Given the description of an element on the screen output the (x, y) to click on. 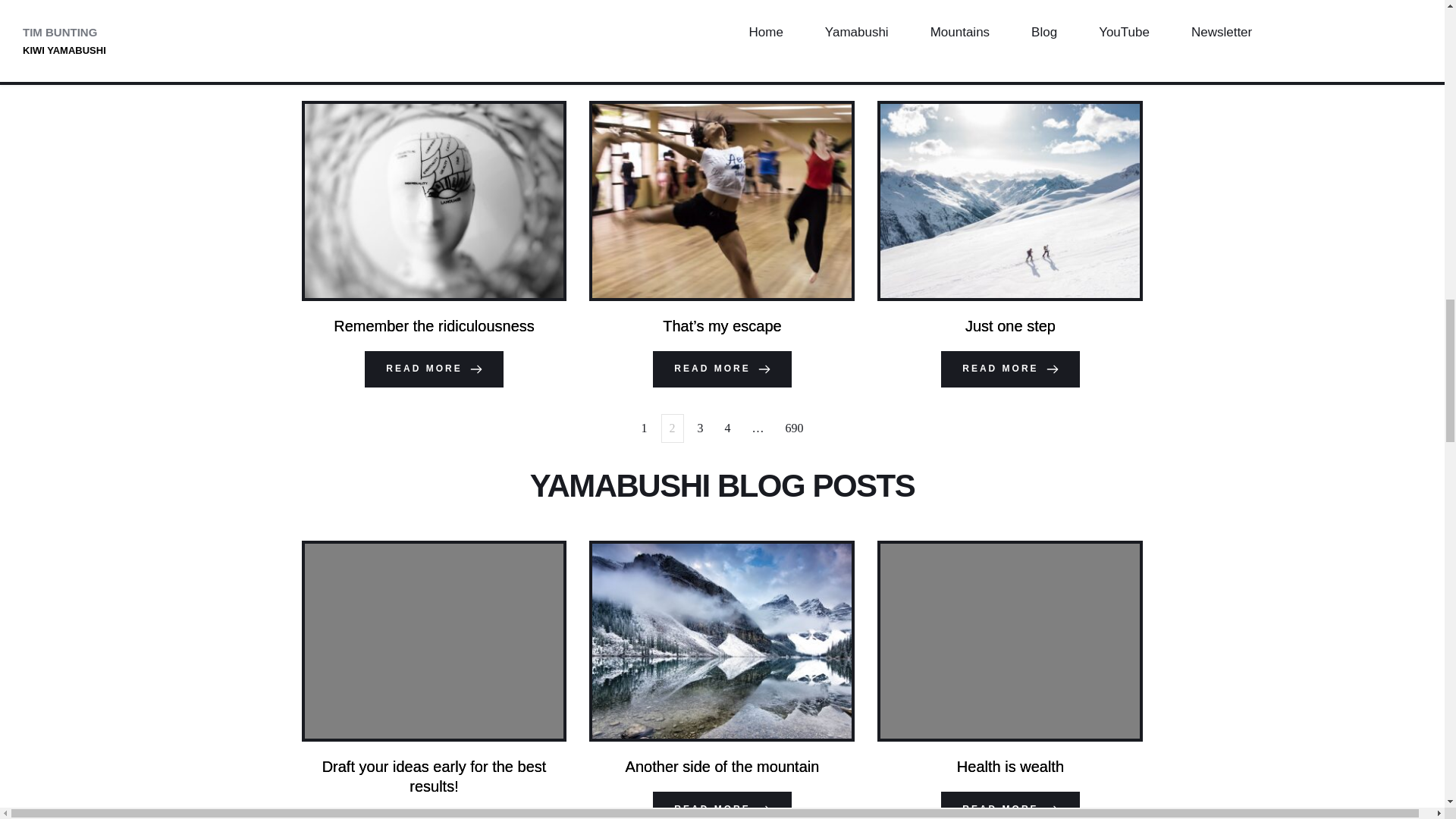
READ MORE (1009, 369)
READ MORE (721, 369)
690 (793, 428)
READ MORE (433, 815)
READ MORE (721, 805)
READ MORE (433, 369)
READ MORE (1009, 805)
